Given the description of an element on the screen output the (x, y) to click on. 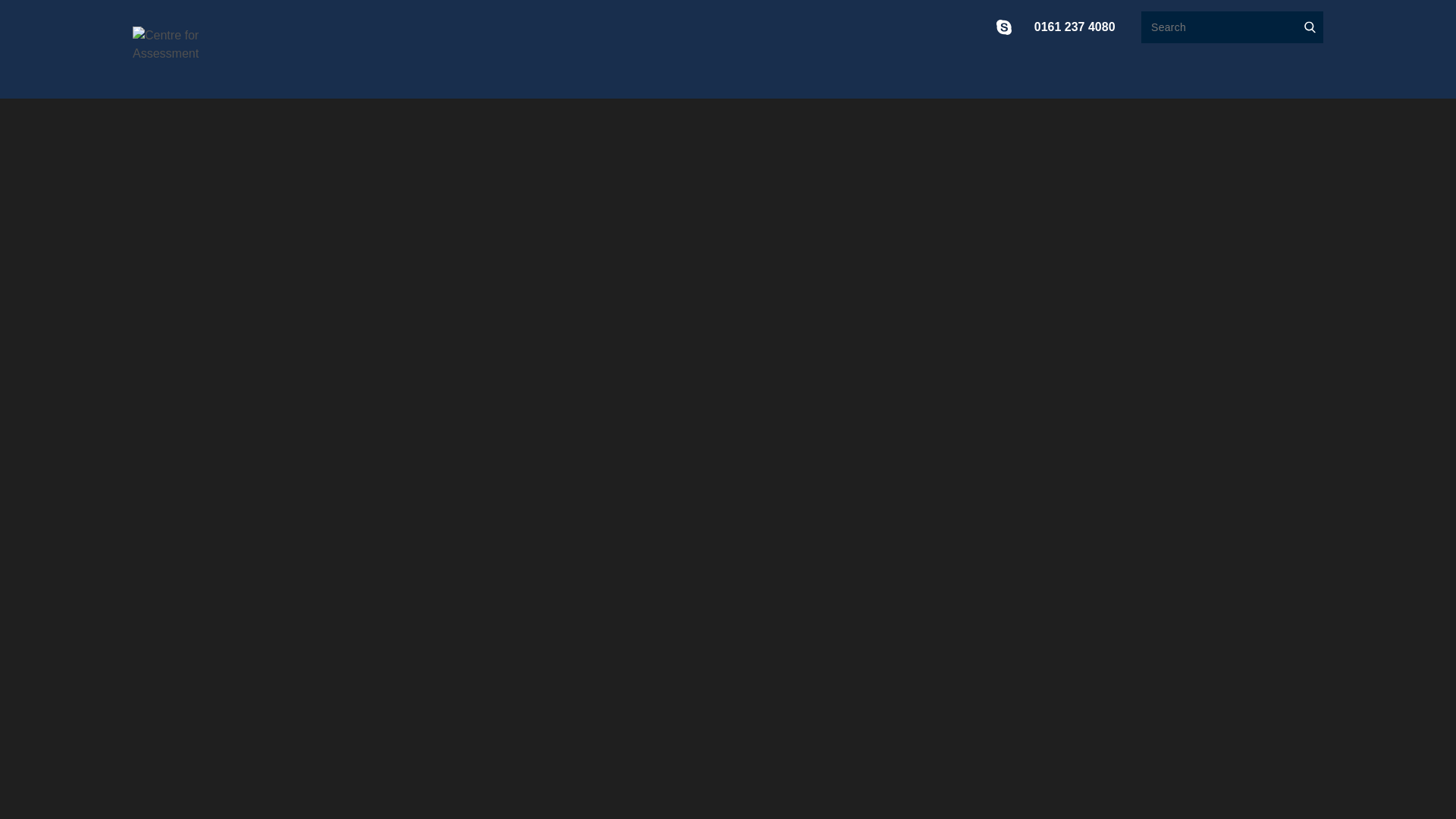
search (1310, 26)
0161 237 4080 (1074, 26)
Home (178, 47)
